Given the description of an element on the screen output the (x, y) to click on. 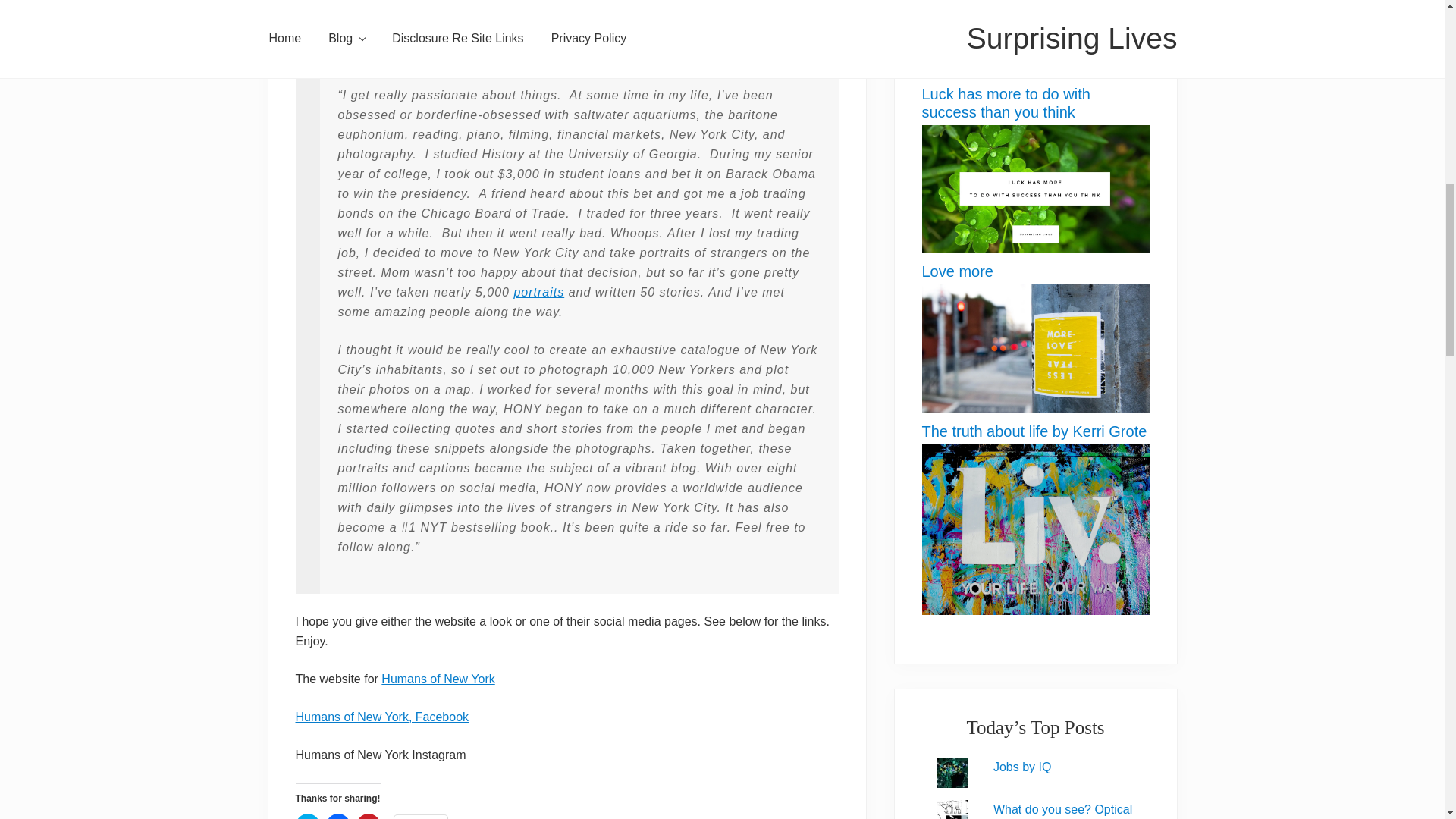
Luck has more to do with success than you think (1035, 247)
Click to share on Twitter (307, 816)
Click to share on Pinterest (368, 816)
Humans of New York (438, 678)
portraits (538, 291)
Humans of New York, Facebook (381, 716)
Click to share on Facebook (338, 816)
